Given the description of an element on the screen output the (x, y) to click on. 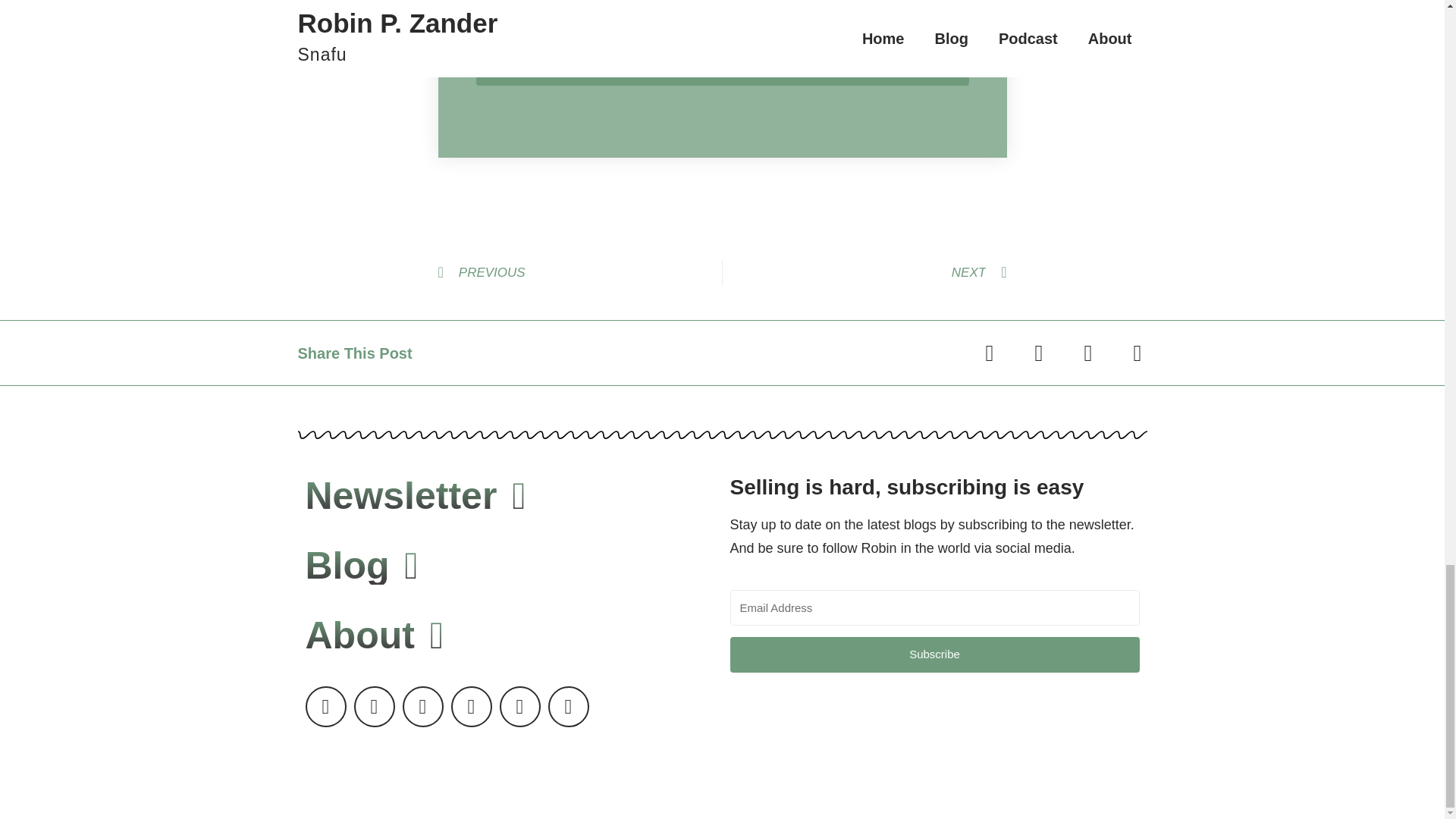
Subscribe (933, 654)
Blog (360, 565)
Subscribe (722, 68)
Newsletter (414, 495)
About (374, 635)
NEXT (864, 272)
PREVIOUS (580, 272)
